Given the description of an element on the screen output the (x, y) to click on. 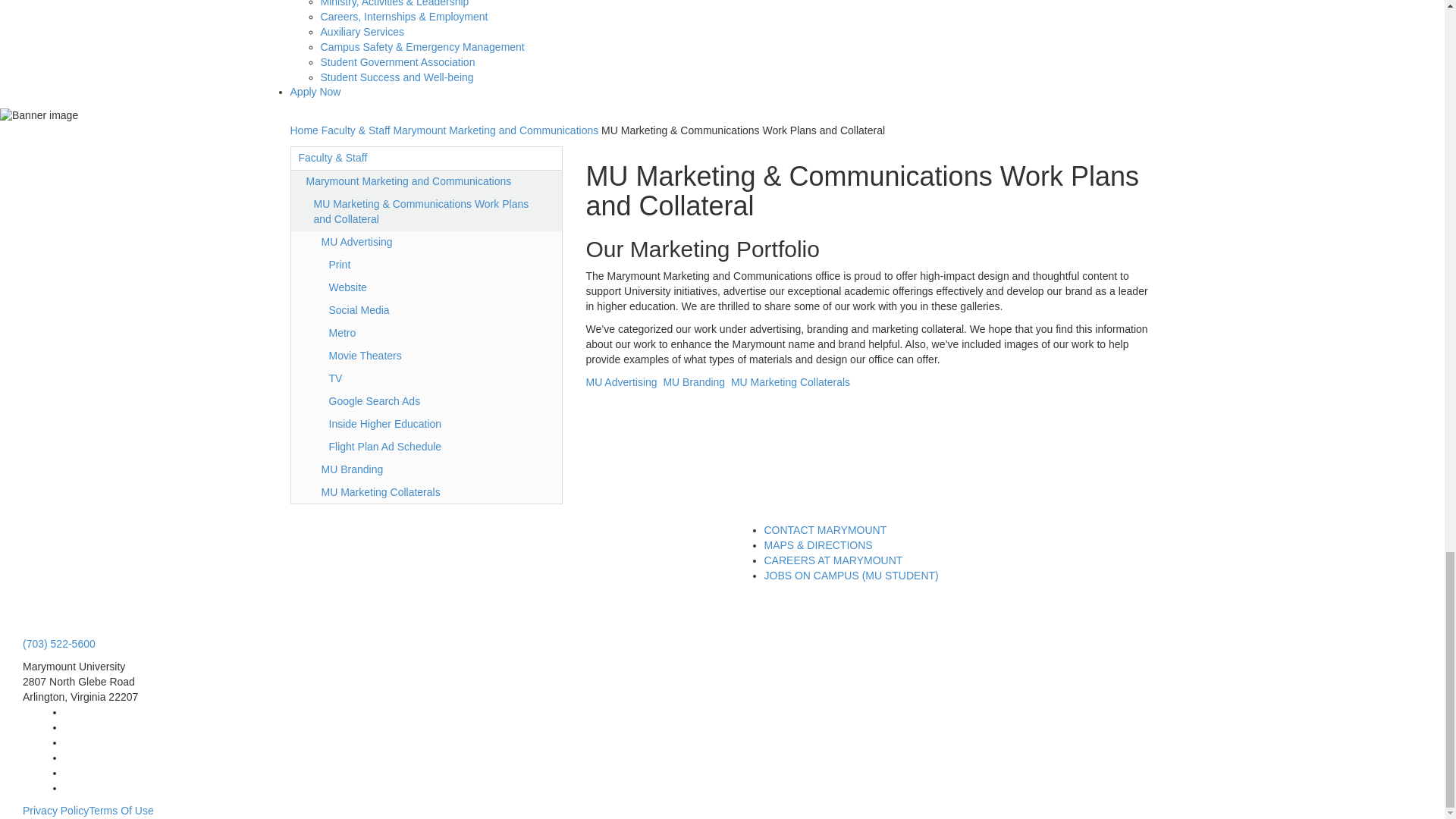
Careers at MU (833, 560)
Contact Us (825, 530)
